Given the description of an element on the screen output the (x, y) to click on. 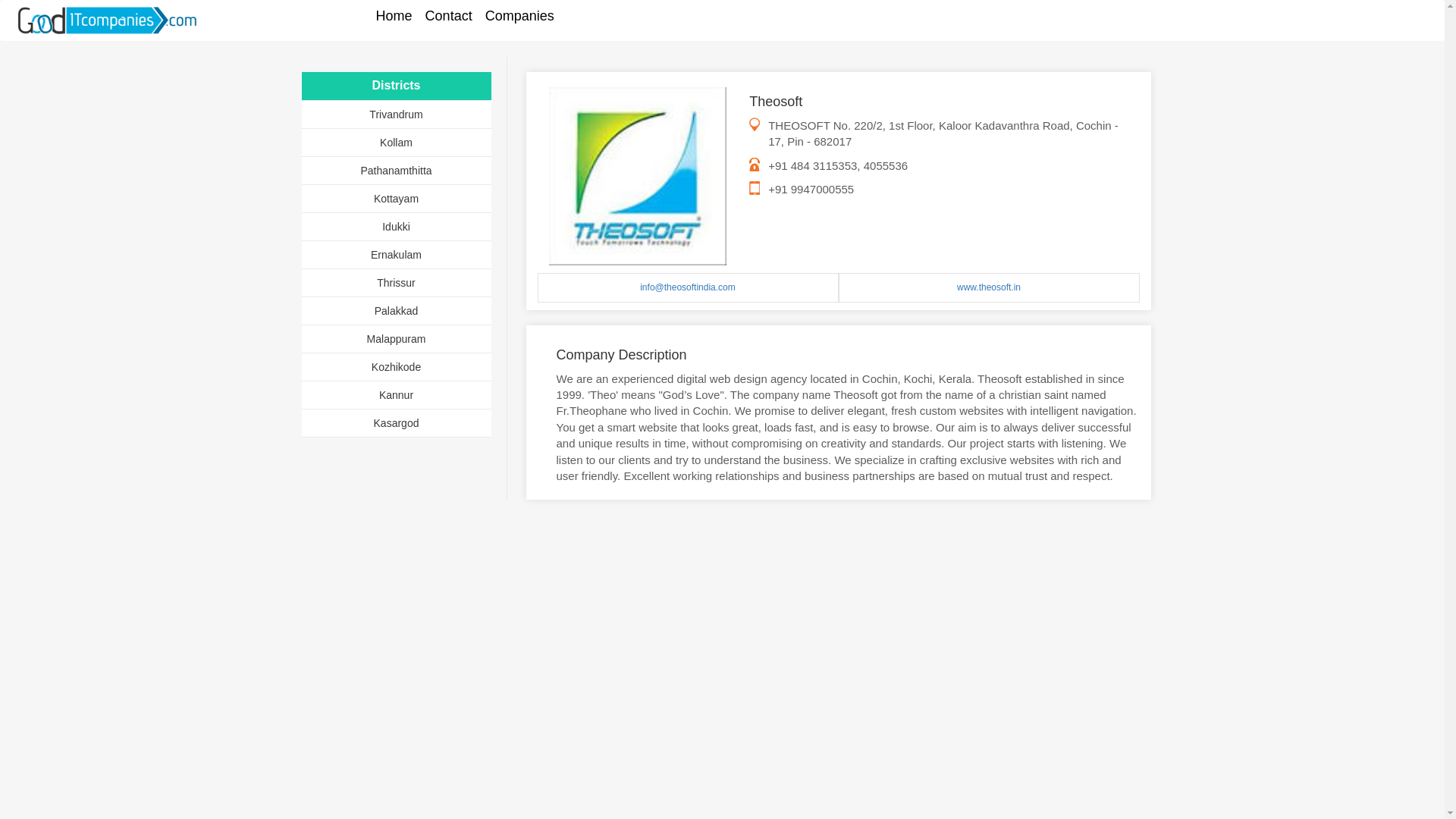
Kasargod (396, 422)
Pathanamthitta (394, 170)
Idukki (395, 226)
Kollam (396, 142)
Companies (519, 15)
Kannur (395, 395)
Ernakulam (396, 254)
Thrissur (395, 282)
Malappuram (396, 338)
Home (393, 15)
